Given the description of an element on the screen output the (x, y) to click on. 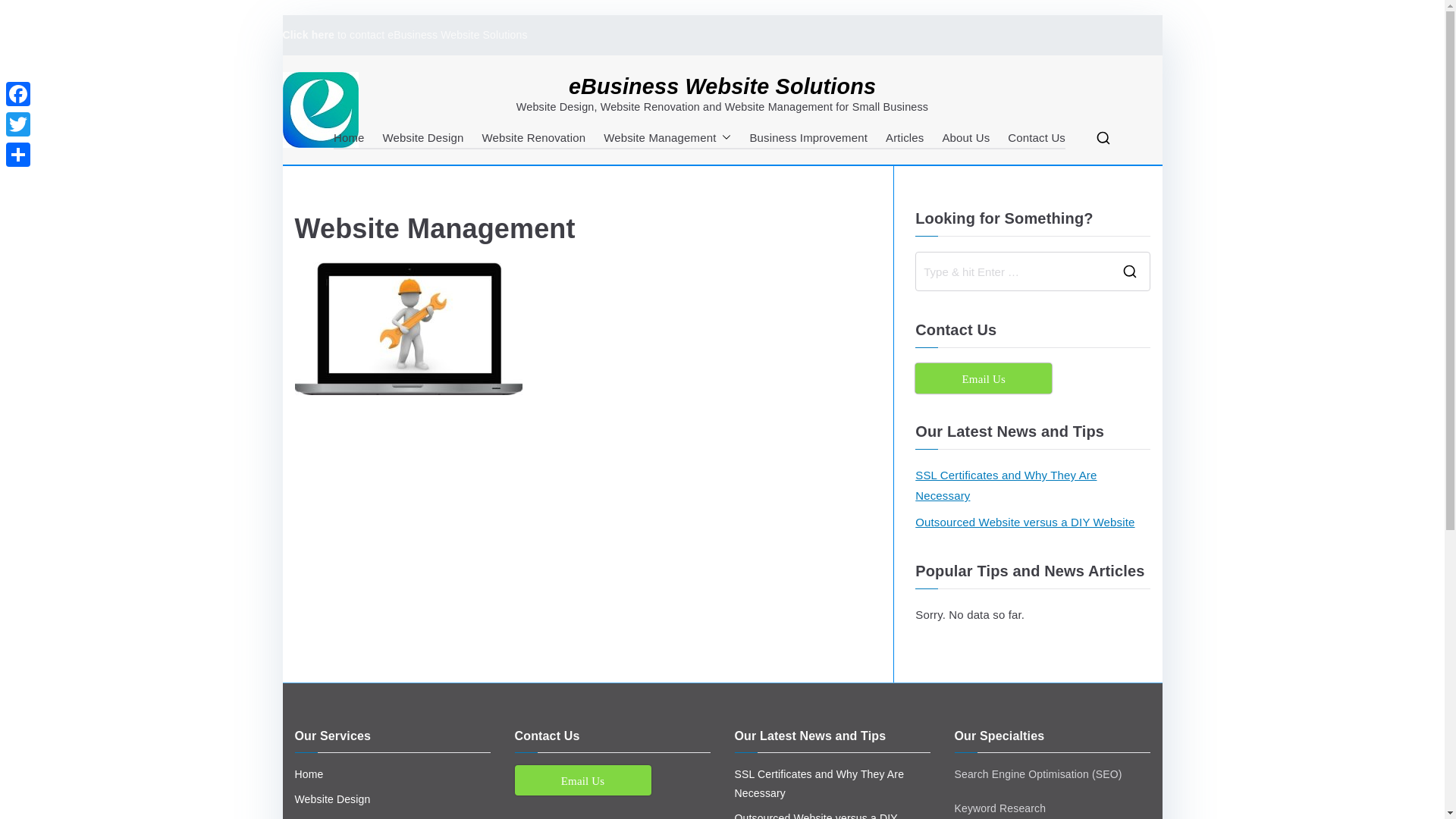
Search for: Element type: hover (1012, 271)
Home Element type: text (348, 137)
Email Us Element type: text (983, 378)
Search Element type: text (25, 18)
eBusiness Website Solutions Element type: text (721, 86)
Search Element type: text (24, 18)
Skip to content Element type: text (282, 14)
Email Us Element type: text (582, 780)
Contact Us Element type: text (1036, 137)
Website Management Element type: text (667, 137)
Click here Element type: text (307, 34)
Website Design Element type: text (423, 137)
Articles Element type: text (904, 137)
Share Element type: text (18, 154)
Search Element type: text (25, 12)
SSL Certificates and Why They Are Necessary Element type: text (1032, 484)
About Us Element type: text (965, 137)
Twitter Element type: text (18, 124)
Outsourced Website versus a DIY Website Element type: text (1024, 521)
Website Renovation Element type: text (533, 137)
Facebook Element type: text (18, 93)
Website Design Element type: text (391, 799)
Business Improvement Element type: text (808, 137)
SSL Certificates and Why They Are Necessary Element type: text (831, 784)
Home Element type: text (391, 774)
